Given the description of an element on the screen output the (x, y) to click on. 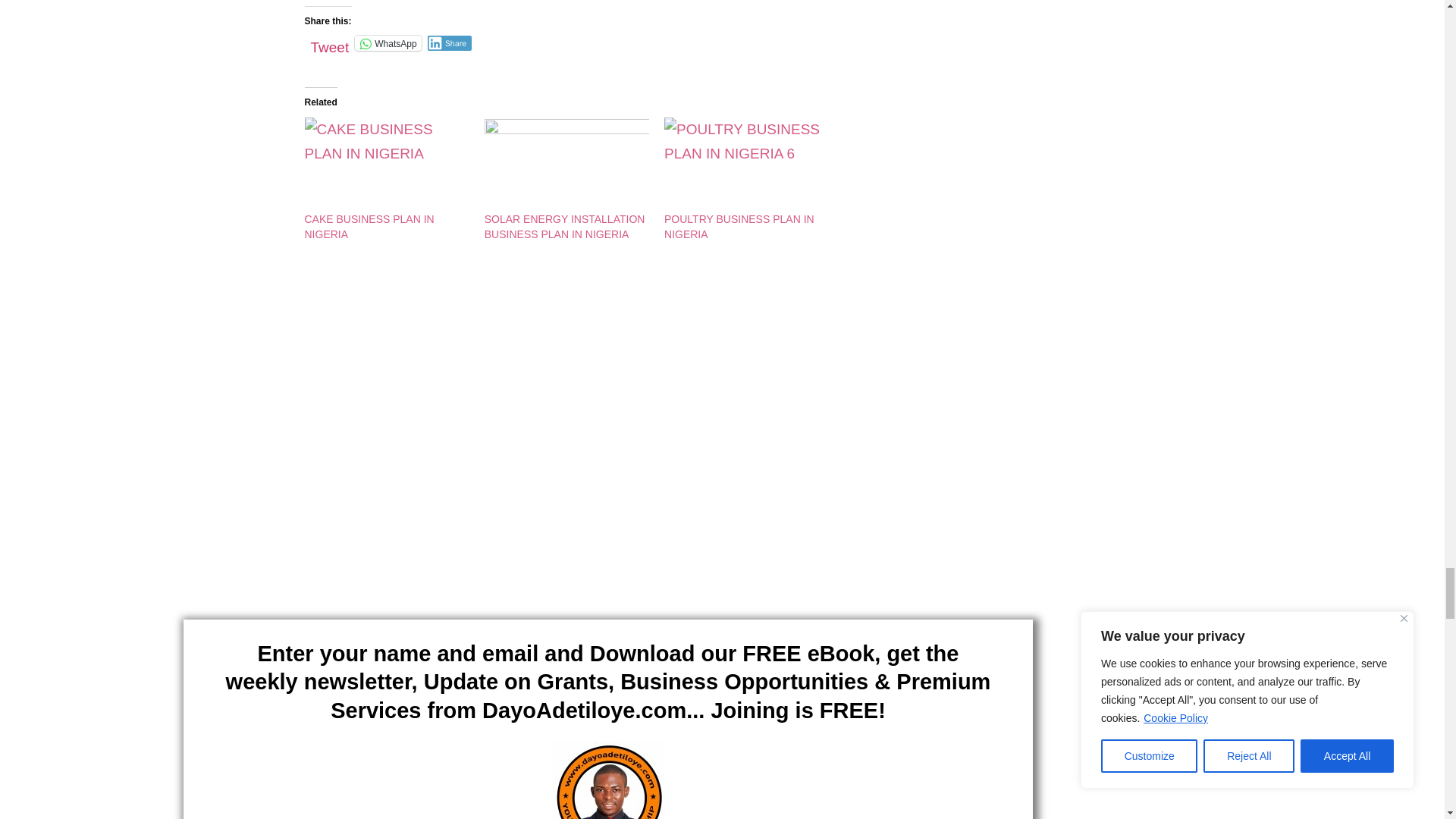
SOLAR ENERGY INSTALLATION BUSINESS PLAN IN NIGERIA (564, 226)
Click to share on WhatsApp (387, 43)
POULTRY BUSINESS PLAN IN NIGERIA (745, 164)
SOLAR ENERGY INSTALLATION BUSINESS PLAN IN NIGERIA (566, 164)
CAKE BUSINESS PLAN IN NIGERIA (386, 164)
CAKE BUSINESS PLAN IN NIGERIA (368, 226)
POULTRY BUSINESS PLAN IN NIGERIA (738, 226)
